Given the description of an element on the screen output the (x, y) to click on. 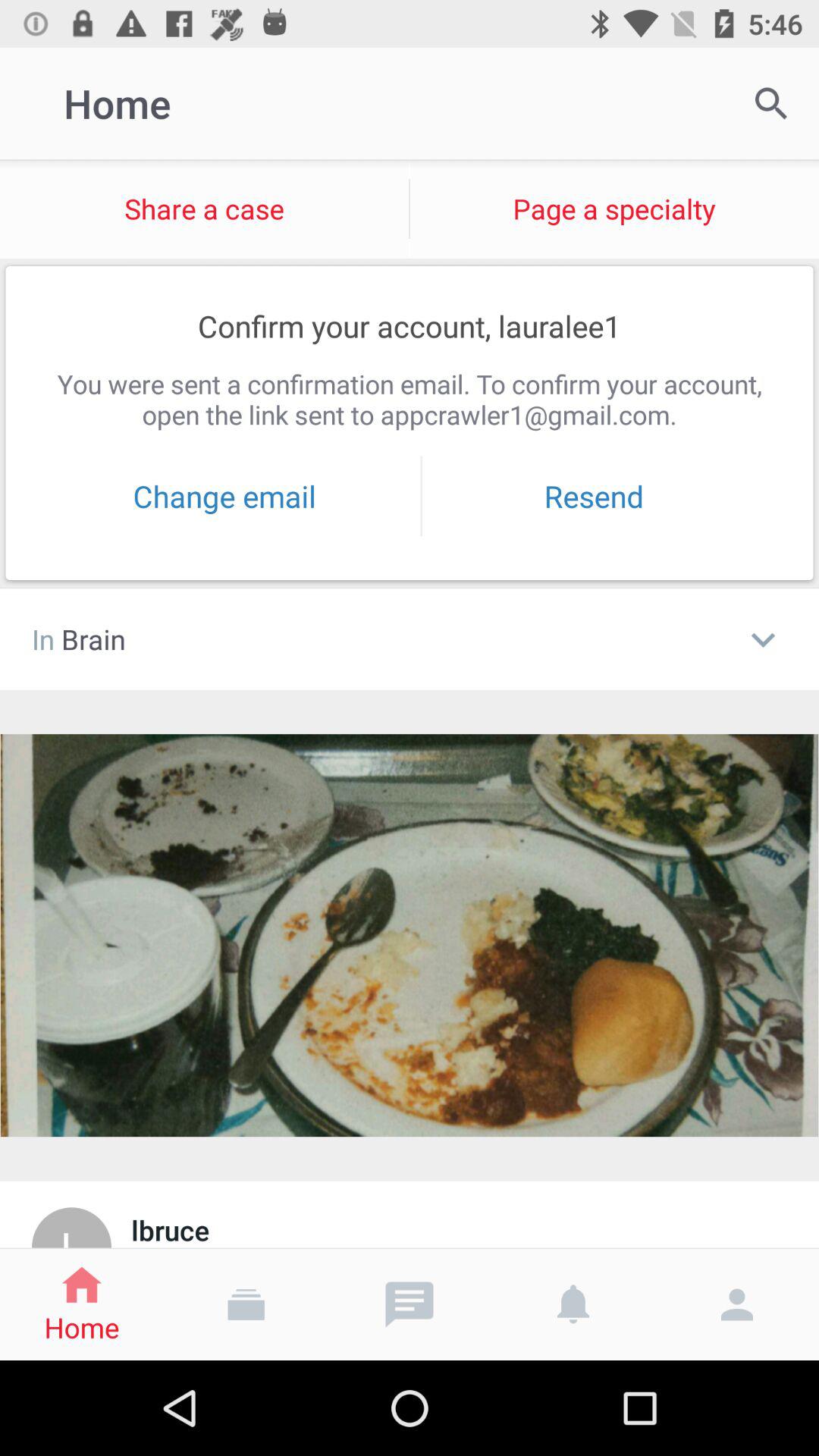
choose the change email on the left (224, 496)
